Given the description of an element on the screen output the (x, y) to click on. 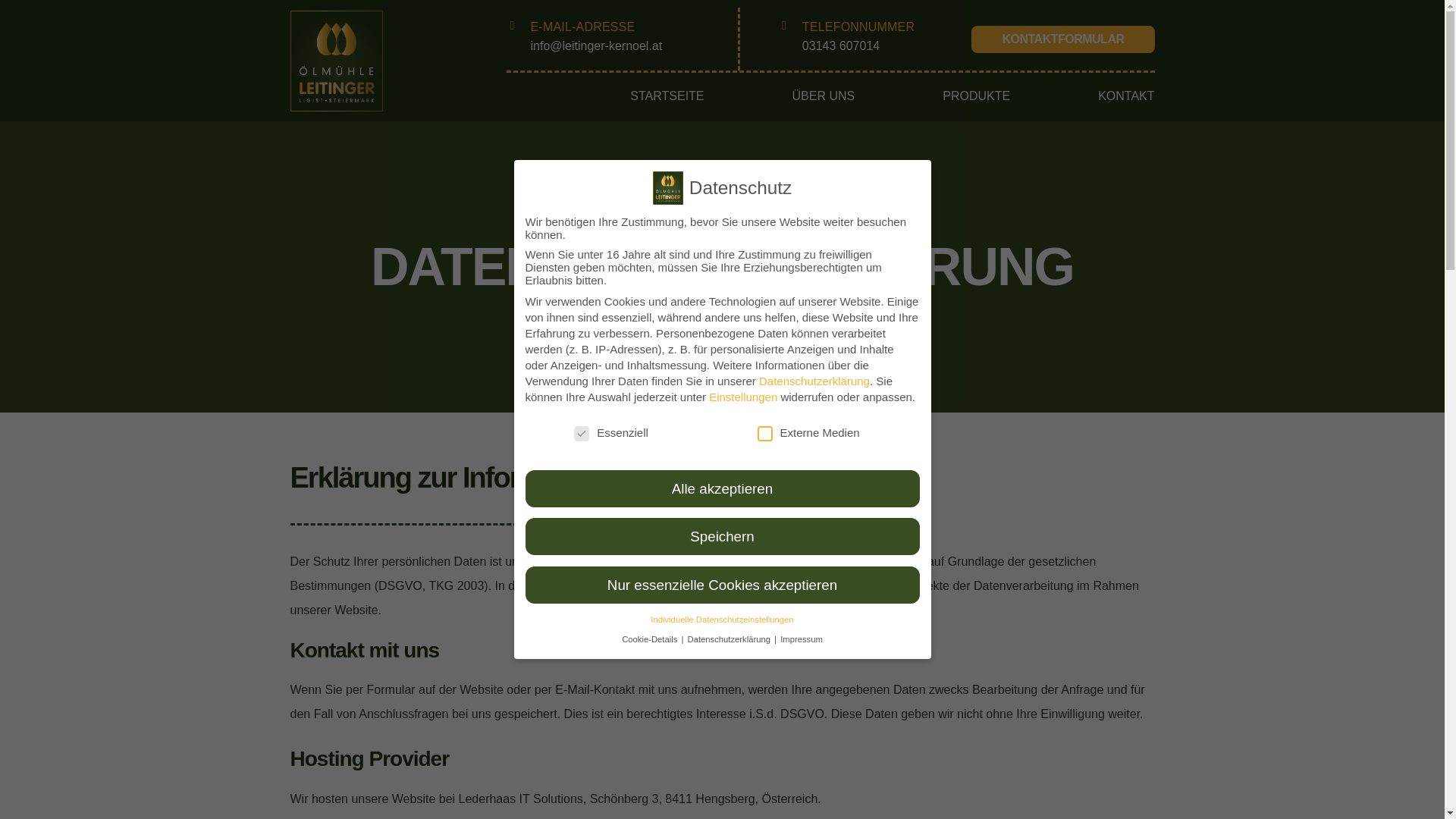
PRODUKTE Element type: text (976, 95)
E-MAIL-ADRESSE Element type: text (582, 26)
Alle akzeptieren Element type: text (721, 488)
TELEFONNUMMER Element type: text (858, 26)
Speichern Element type: text (721, 536)
Impressum Element type: text (801, 638)
Nur essenzielle Cookies akzeptieren Element type: text (721, 583)
Individuelle Datenschutzeinstellungen Element type: text (721, 619)
STARTSEITE Element type: text (666, 95)
Einstellungen Element type: text (743, 396)
Cookie-Details Element type: text (650, 638)
KONTAKTFORMULAR Element type: text (1062, 39)
KONTAKT Element type: text (1126, 95)
